Given the description of an element on the screen output the (x, y) to click on. 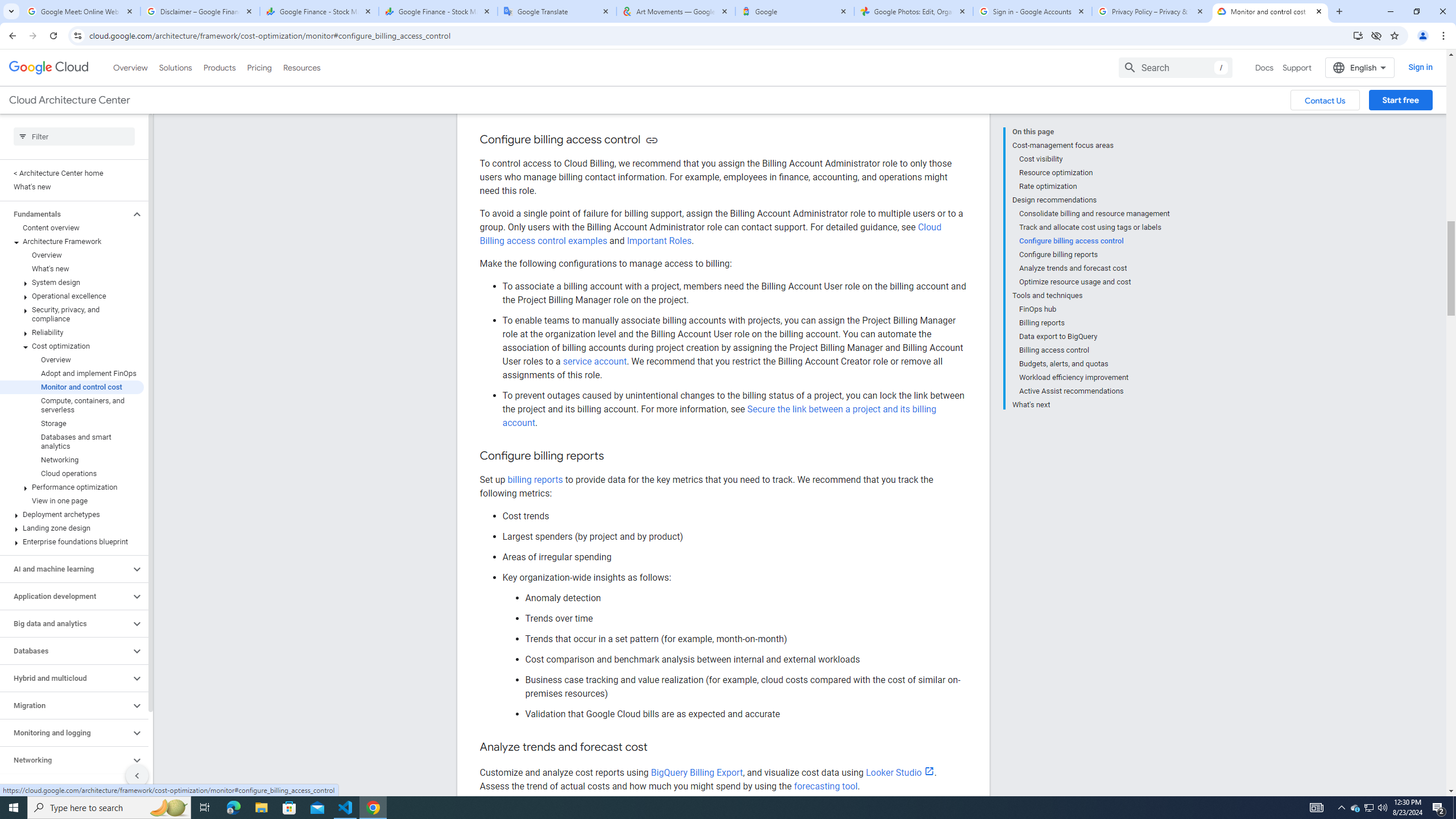
Copy link to this section: Configure billing access control (650, 139)
Fundamentals (64, 214)
Type to filter (74, 136)
Tools and techniques (1090, 295)
Deployment archetypes (72, 514)
Cost-management focus areas (1090, 145)
Hide side navigation (136, 775)
Cost optimization (72, 345)
Consolidate billing and resource management (1094, 213)
English (1359, 67)
Billing reports (1094, 323)
Enterprise foundations blueprint (72, 541)
